Given the description of an element on the screen output the (x, y) to click on. 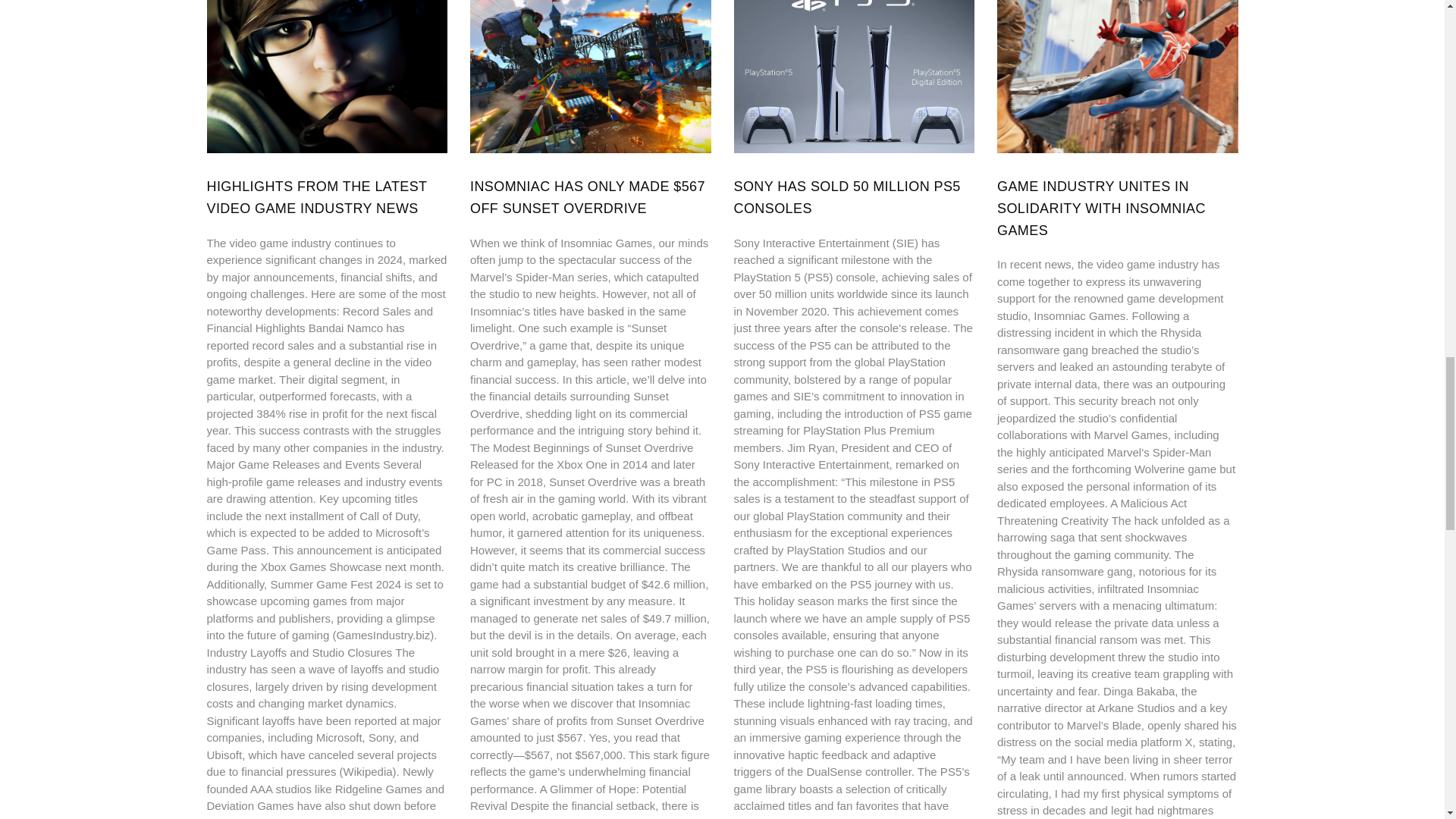
GAME INDUSTRY UNITES IN SOLIDARITY WITH INSOMNIAC GAMES (1101, 208)
SONY HAS SOLD 50 MILLION PS5 CONSOLES (846, 197)
HIGHLIGHTS FROM THE LATEST VIDEO GAME INDUSTRY NEWS (316, 197)
